Given the description of an element on the screen output the (x, y) to click on. 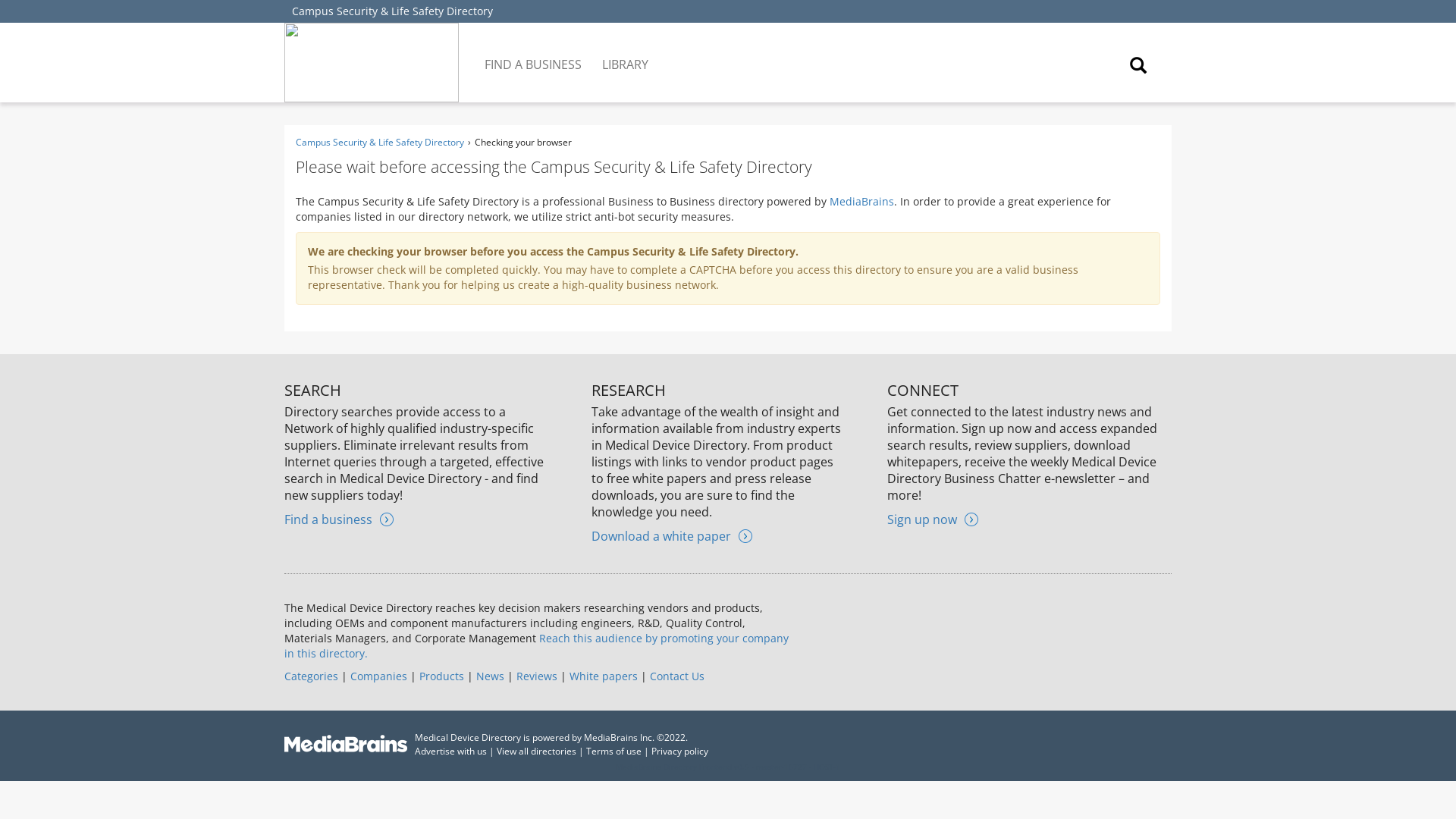
Reviews (536, 676)
FIND A BUSINESS (534, 52)
Download a white paper (671, 535)
LIBRARY (626, 52)
MediaBrains (861, 201)
Products (441, 676)
Contact Us (676, 676)
Privacy policy (678, 750)
Terms of use (614, 750)
White papers (603, 676)
Companies (378, 676)
News (489, 676)
Sign up now (932, 519)
View all directories (536, 750)
